Given the description of an element on the screen output the (x, y) to click on. 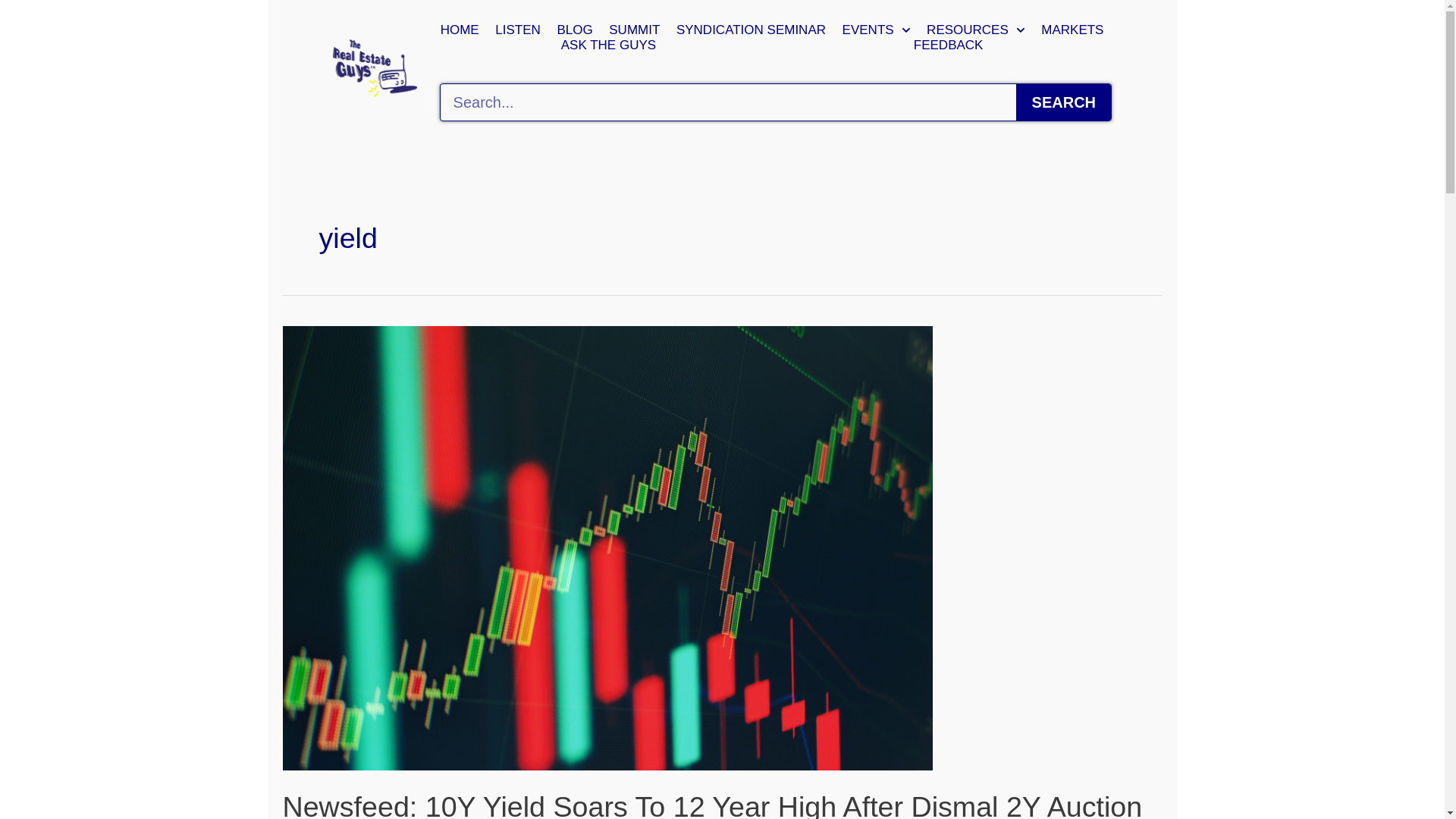
SUMMIT (633, 29)
BLOG (574, 29)
HOME (459, 29)
EVENTS (876, 29)
LISTEN (517, 29)
SYNDICATION SEMINAR (751, 29)
